Given the description of an element on the screen output the (x, y) to click on. 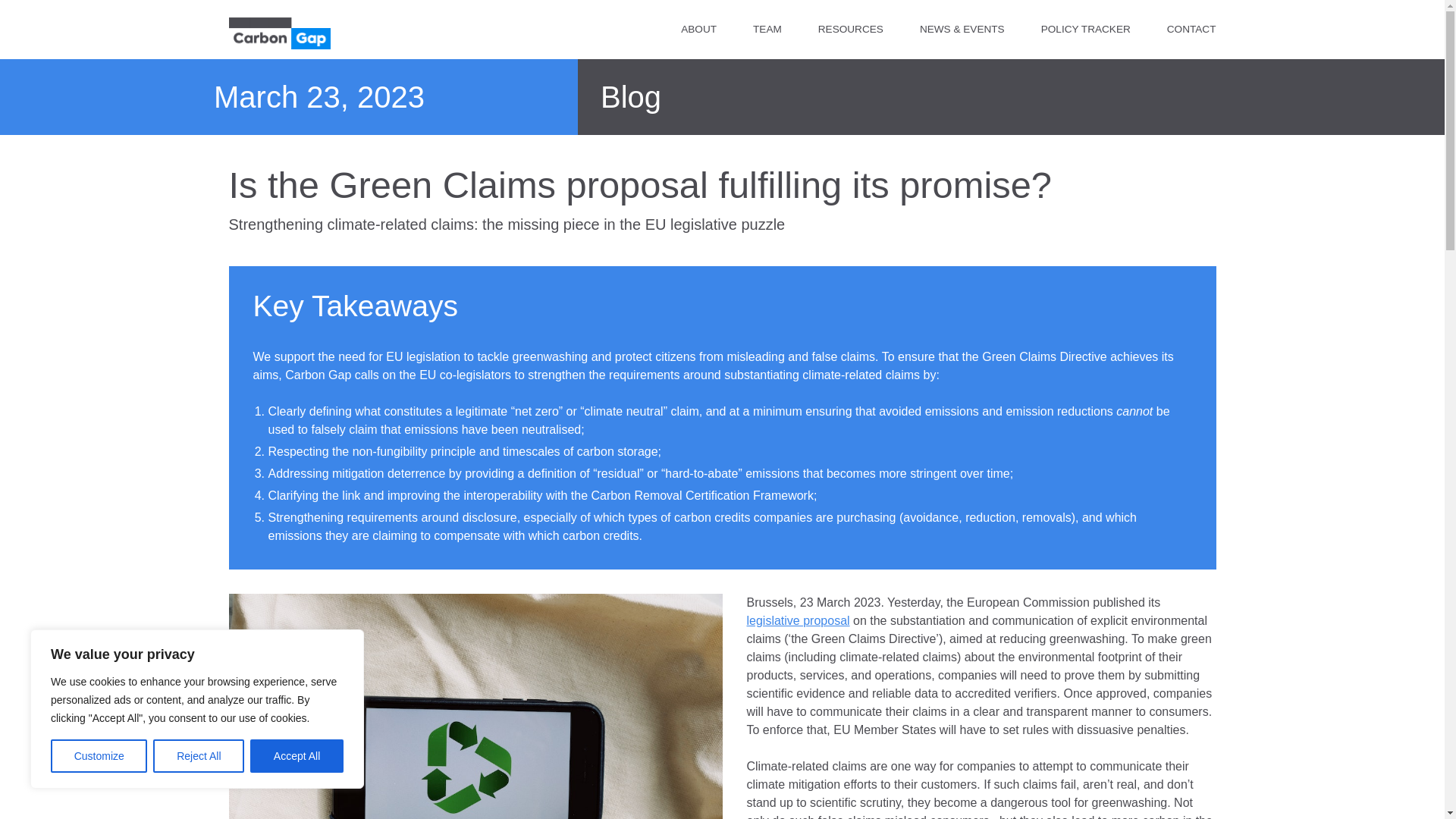
Accept All (296, 756)
CONTACT (1191, 30)
Reject All (198, 756)
Customize (98, 756)
RESOURCES (850, 30)
ABOUT (698, 30)
legislative proposal (796, 620)
TEAM (766, 30)
POLICY TRACKER (1086, 30)
